Given the description of an element on the screen output the (x, y) to click on. 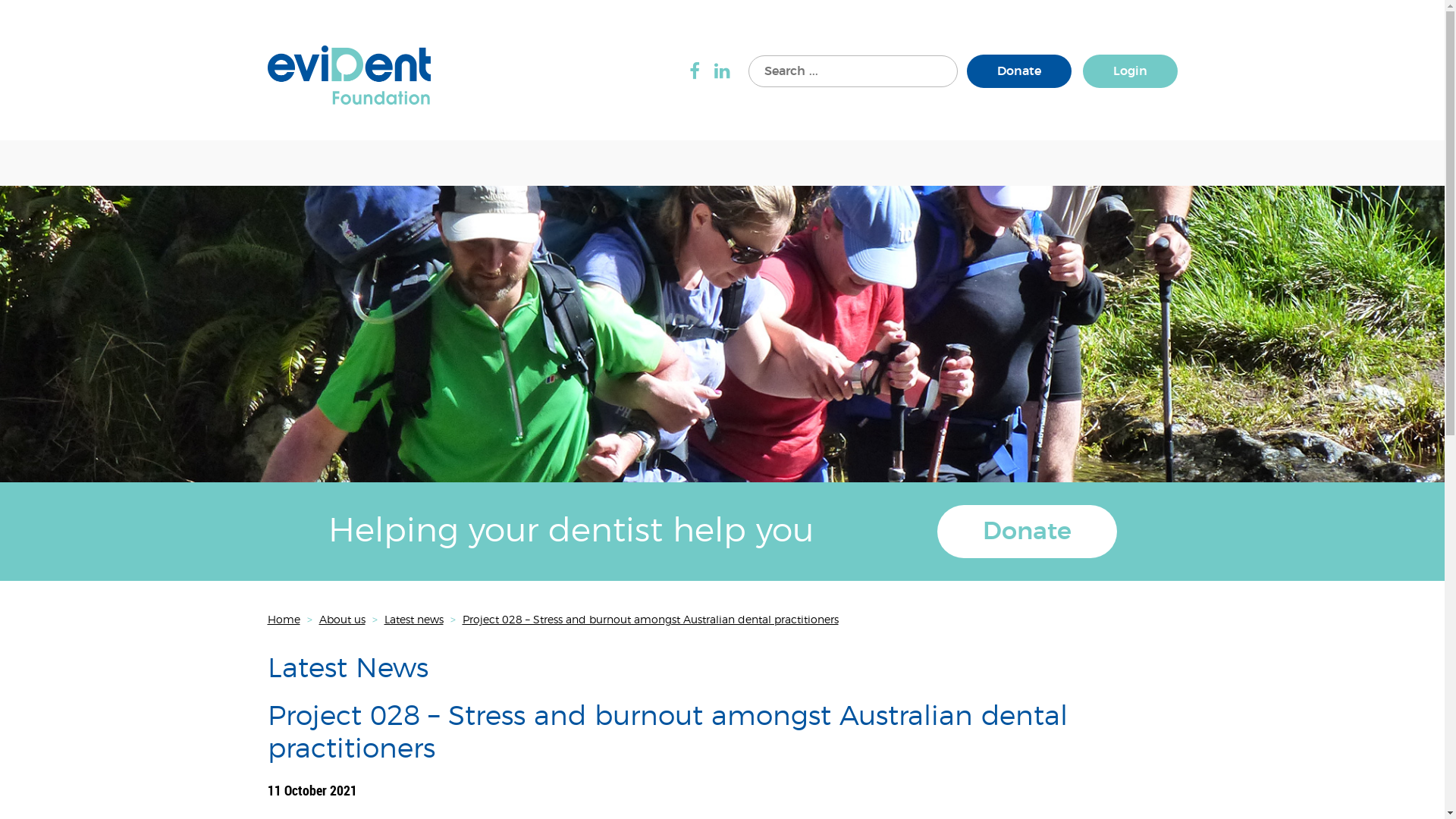
Login Element type: text (1129, 70)
Donate Element type: text (1018, 70)
About us Element type: text (341, 620)
Donate Element type: text (1027, 531)
Home Element type: text (282, 620)
Latest news Element type: text (412, 620)
